Given the description of an element on the screen output the (x, y) to click on. 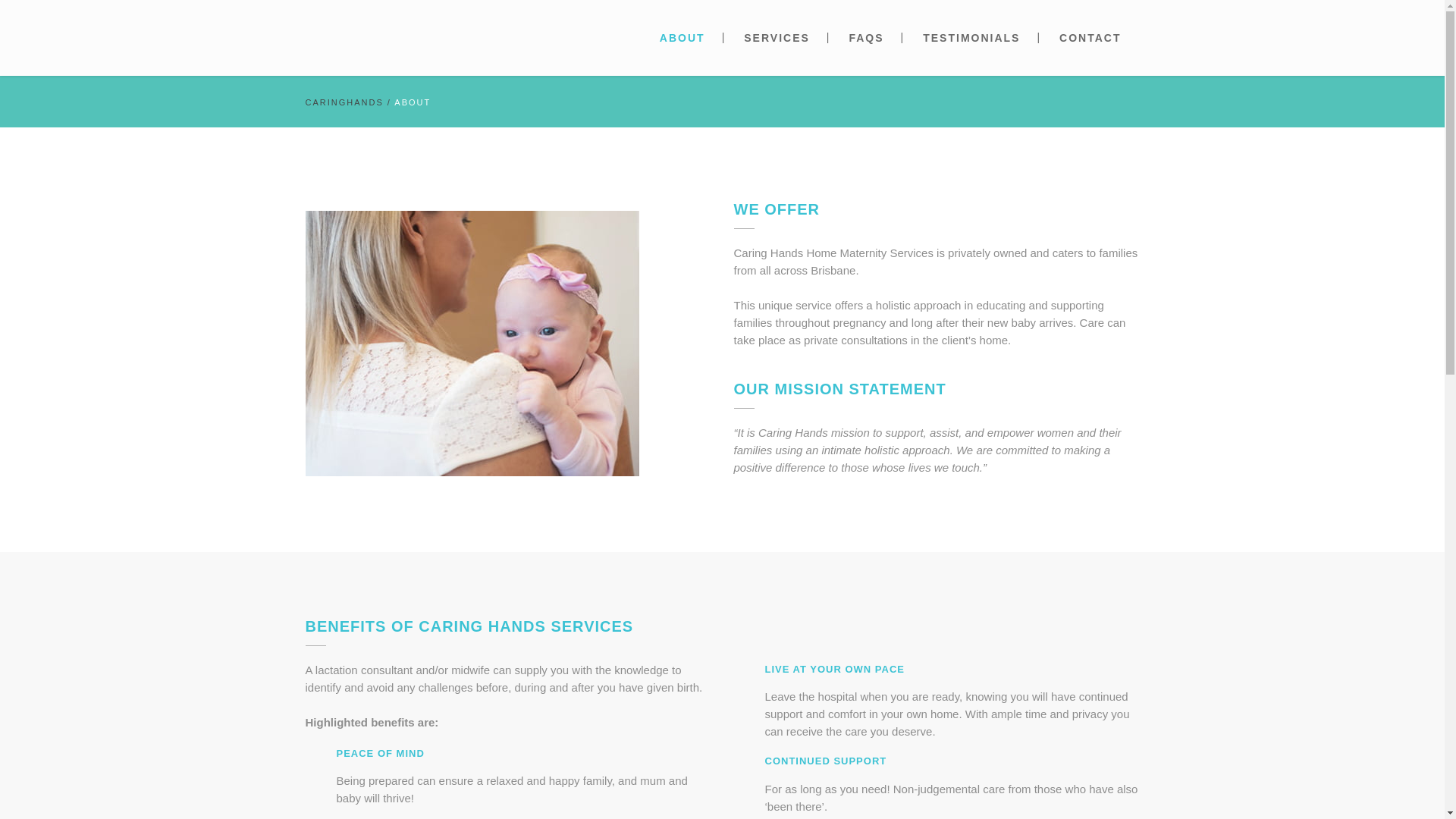
SERVICES (776, 38)
FAQS (865, 38)
TESTIMONIALS (971, 38)
ABOUT (682, 38)
certified nurse midwife brisbane (471, 342)
CONTACT (1089, 38)
CARINGHANDS (343, 102)
